Given the description of an element on the screen output the (x, y) to click on. 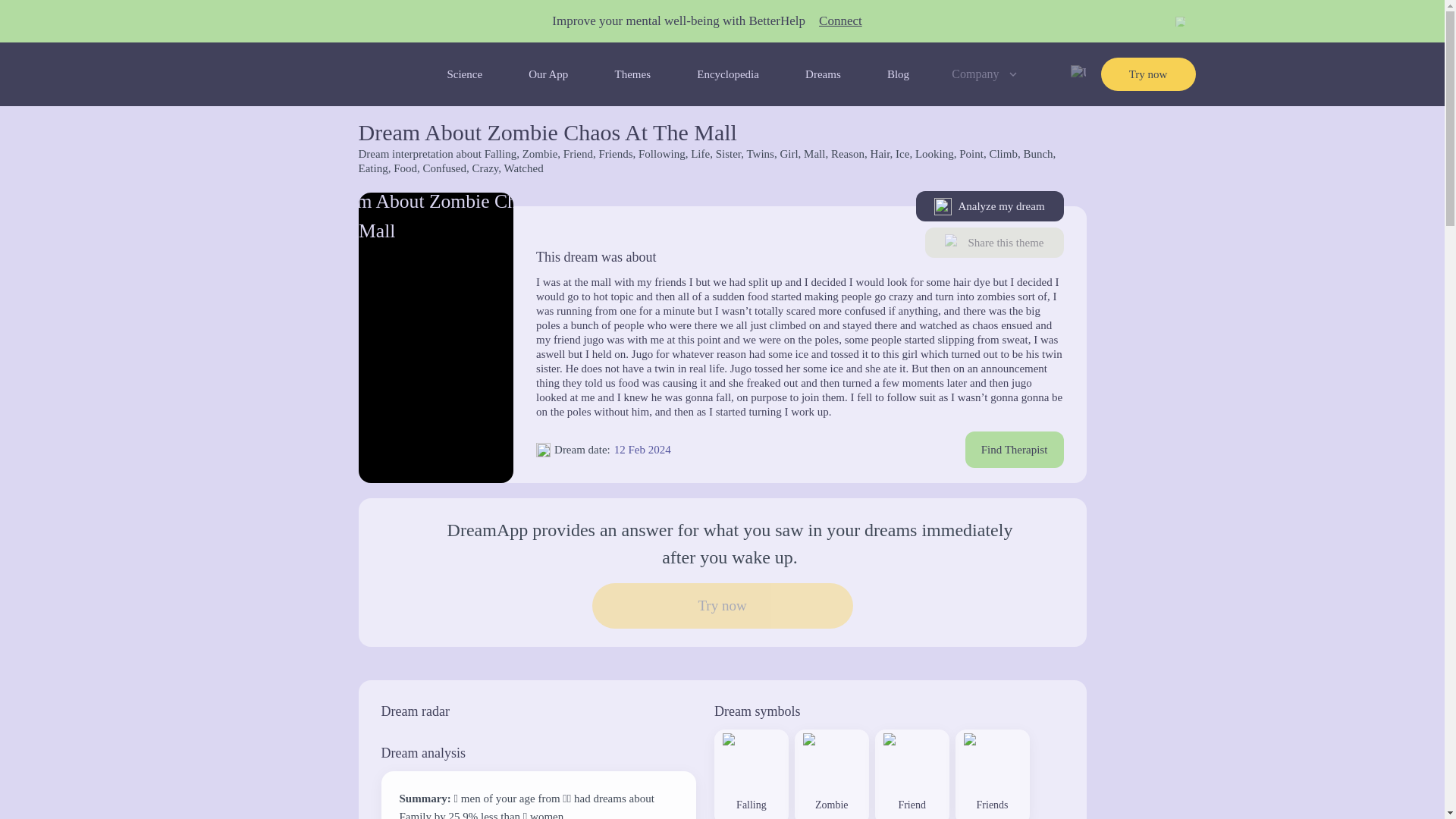
Analyze my dream (989, 205)
Share this theme (994, 242)
Company (986, 73)
Improve your mental well-being with BetterHelp (678, 21)
Our App (548, 74)
Science (464, 74)
Dreams (823, 74)
Encyclopedia (727, 74)
Connect (839, 21)
Blog (897, 74)
